Given the description of an element on the screen output the (x, y) to click on. 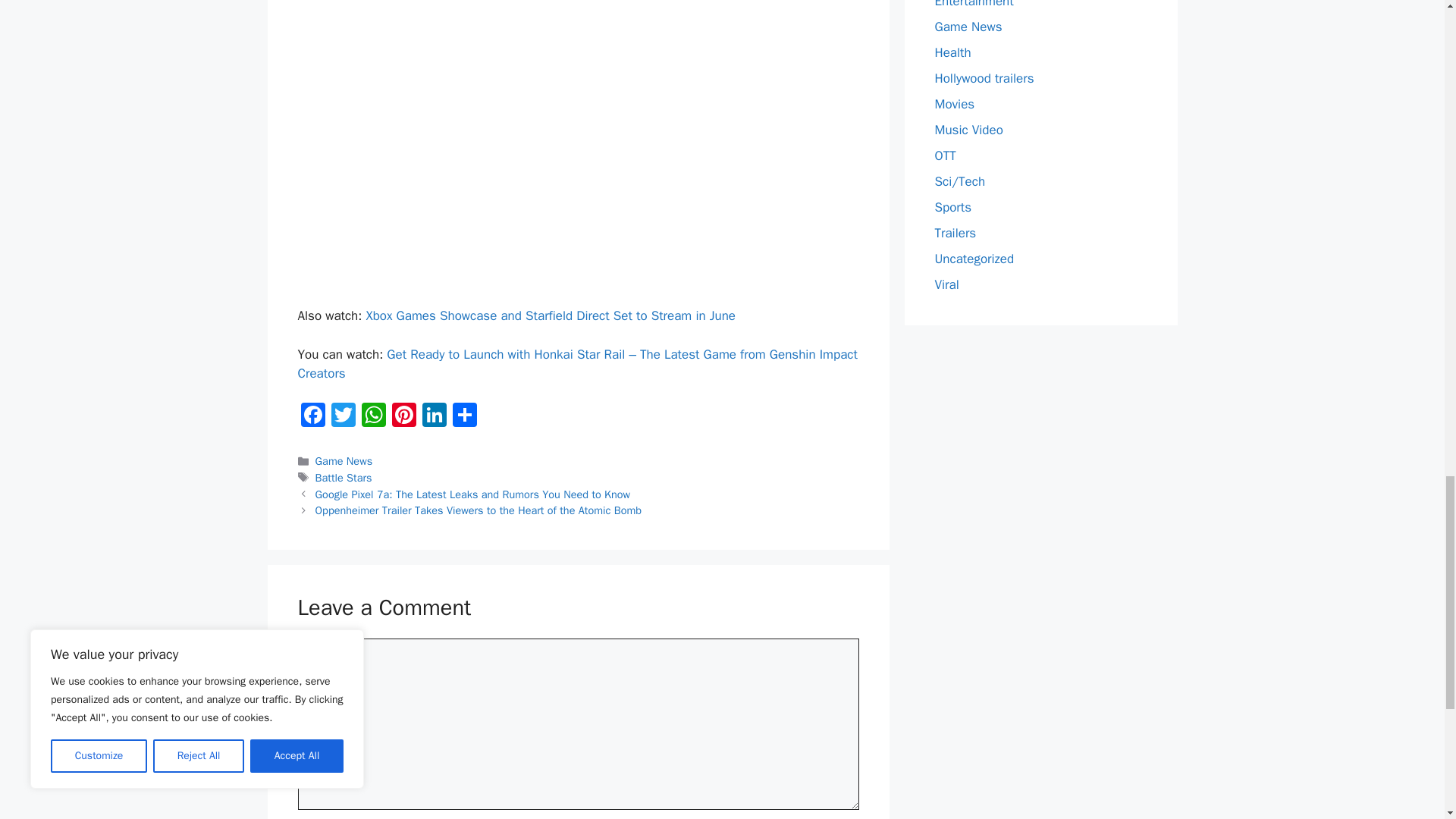
LinkedIn (433, 416)
Facebook (312, 416)
WhatsApp (373, 416)
Twitter (342, 416)
Pinterest (403, 416)
